Given the description of an element on the screen output the (x, y) to click on. 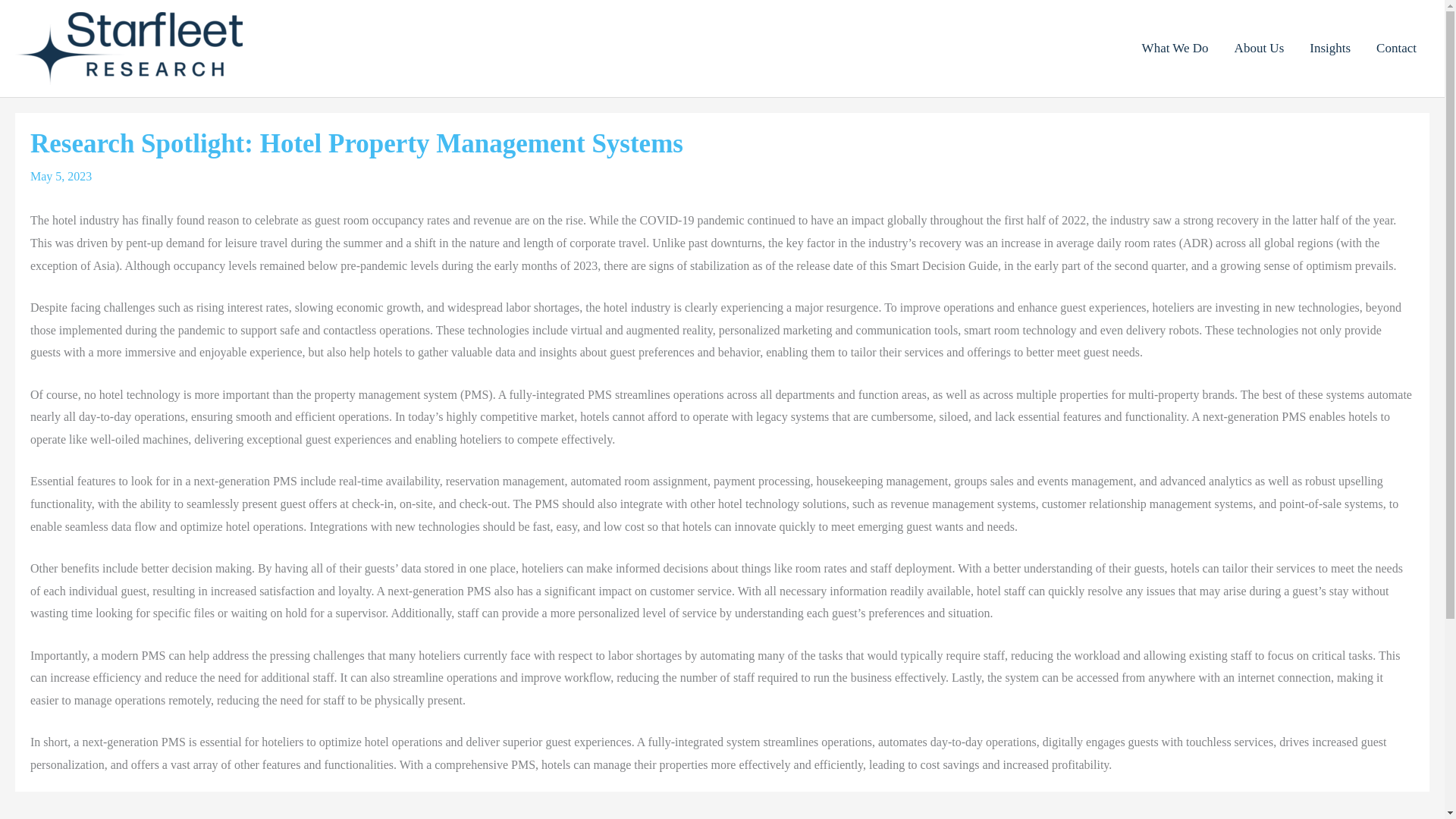
Research Spotlight: Enterprise Resource Planning (57, 818)
Contact (1395, 48)
Research Spotlight: Restaurant Management and POS Systems (1396, 818)
Insights (1329, 48)
What We Do (1175, 48)
About Us (1259, 48)
